Given the description of an element on the screen output the (x, y) to click on. 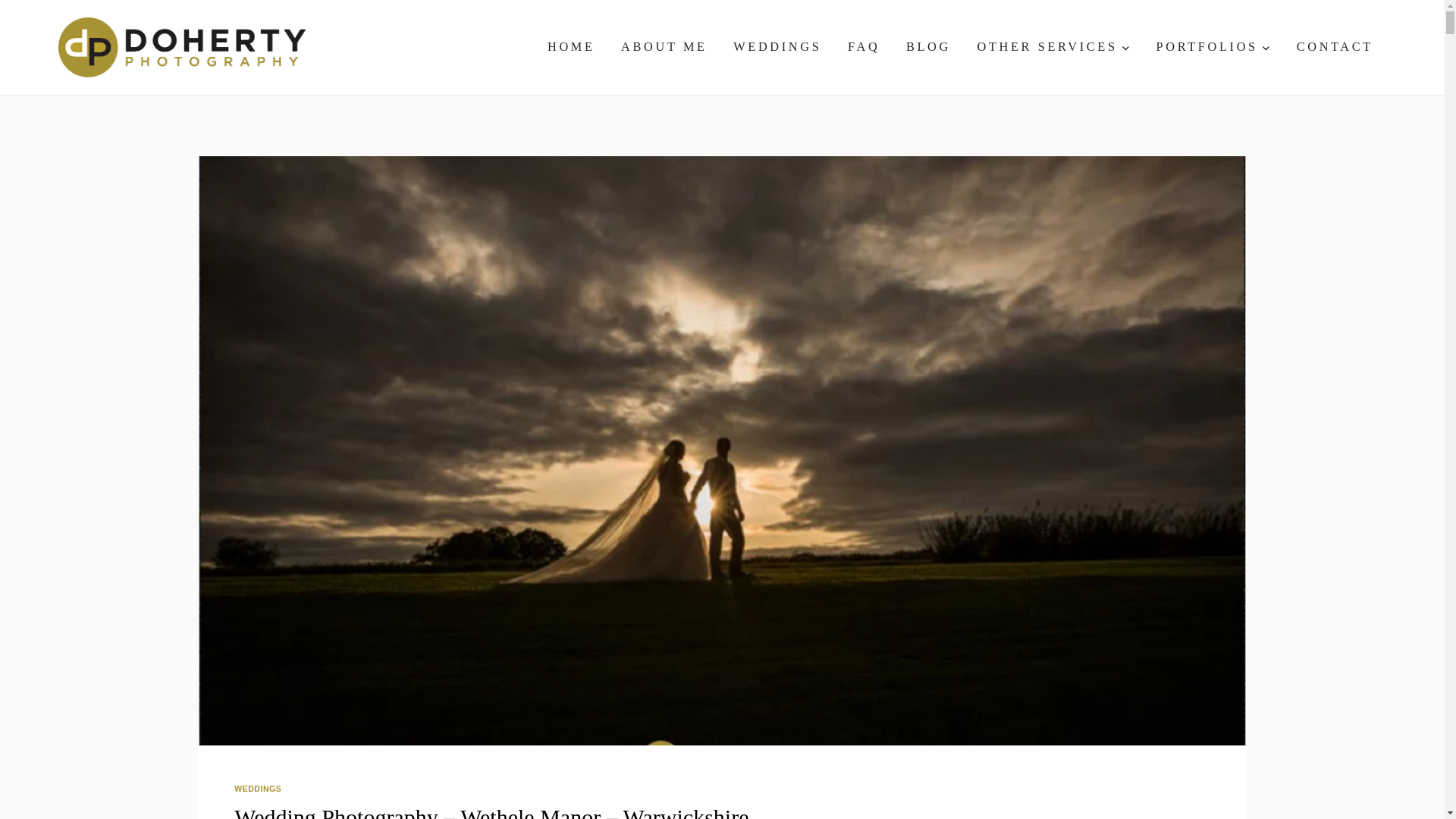
OTHER SERVICES (1052, 47)
PORTFOLIOS (1212, 47)
ABOUT ME (664, 47)
FAQ (863, 47)
HOME (571, 47)
WEDDINGS (777, 47)
CONTACT (1334, 47)
BLOG (928, 47)
WEDDINGS (257, 788)
